Given the description of an element on the screen output the (x, y) to click on. 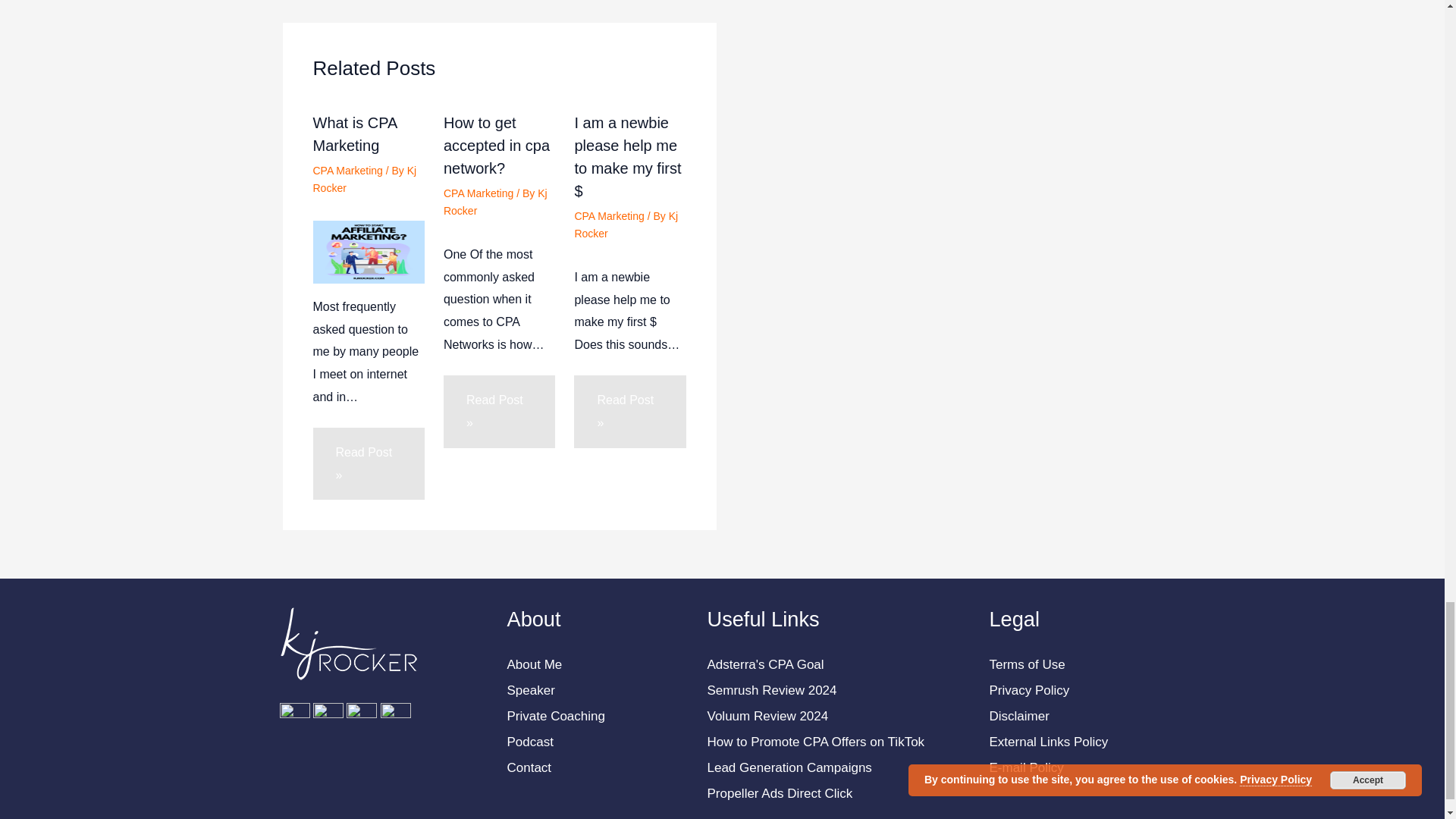
View all posts by Kj Rocker (495, 201)
View all posts by Kj Rocker (625, 224)
View all posts by Kj Rocker (364, 178)
